Given the description of an element on the screen output the (x, y) to click on. 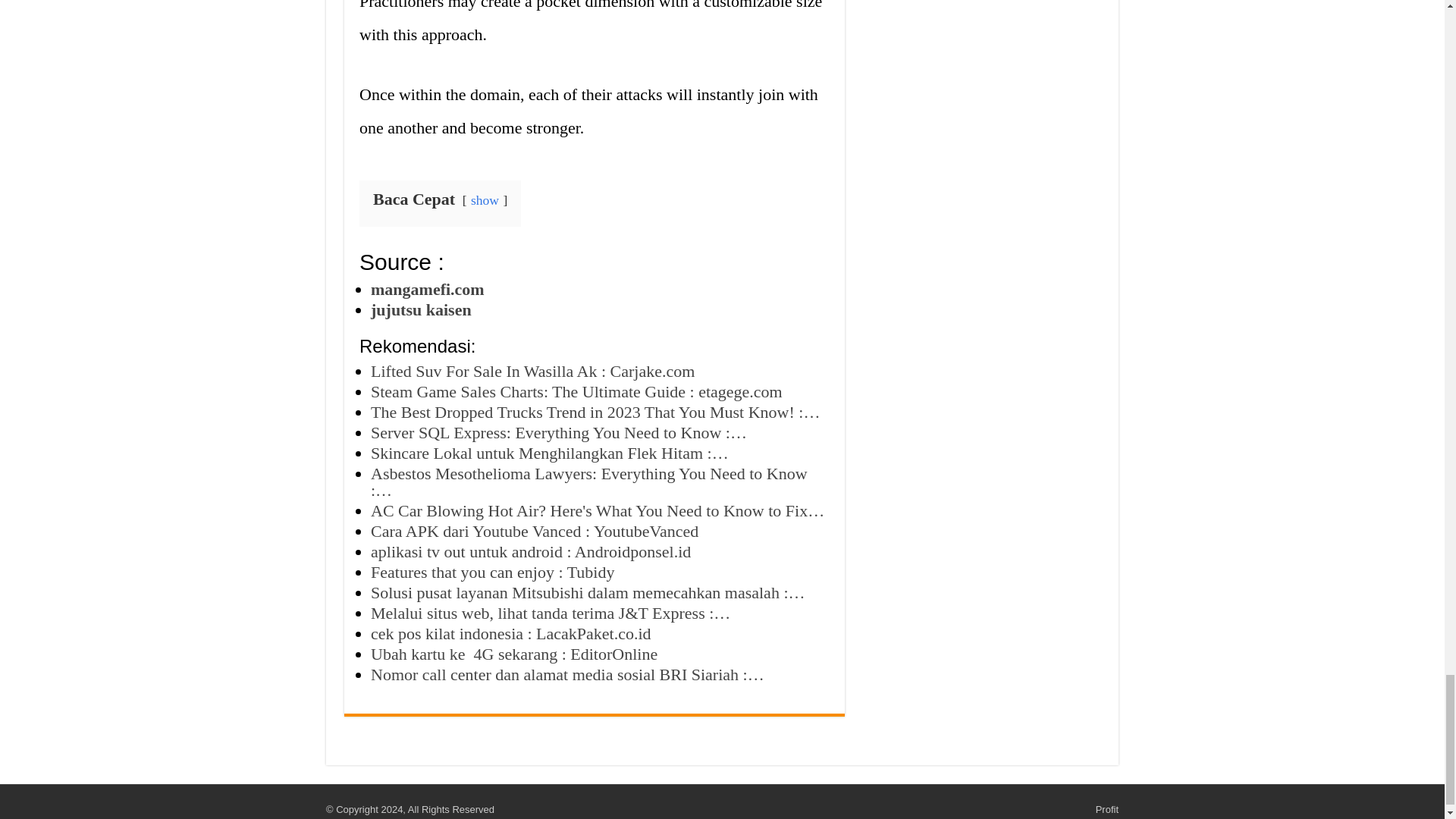
Profit (1107, 808)
show (484, 200)
jujutsu kaisen (421, 309)
Lifted Suv For Sale In Wasilla Ak : Carjake.com (532, 370)
Cara APK dari Youtube Vanced : YoutubeVanced (534, 530)
Ubah kartu ke  4G sekarang : EditorOnline (514, 653)
mangamefi.com (427, 289)
Steam Game Sales Charts: The Ultimate Guide : etagege.com (577, 391)
Features that you can enjoy : Tubidy (492, 571)
cek pos kilat indonesia : LacakPaket.co.id (510, 633)
